Given the description of an element on the screen output the (x, y) to click on. 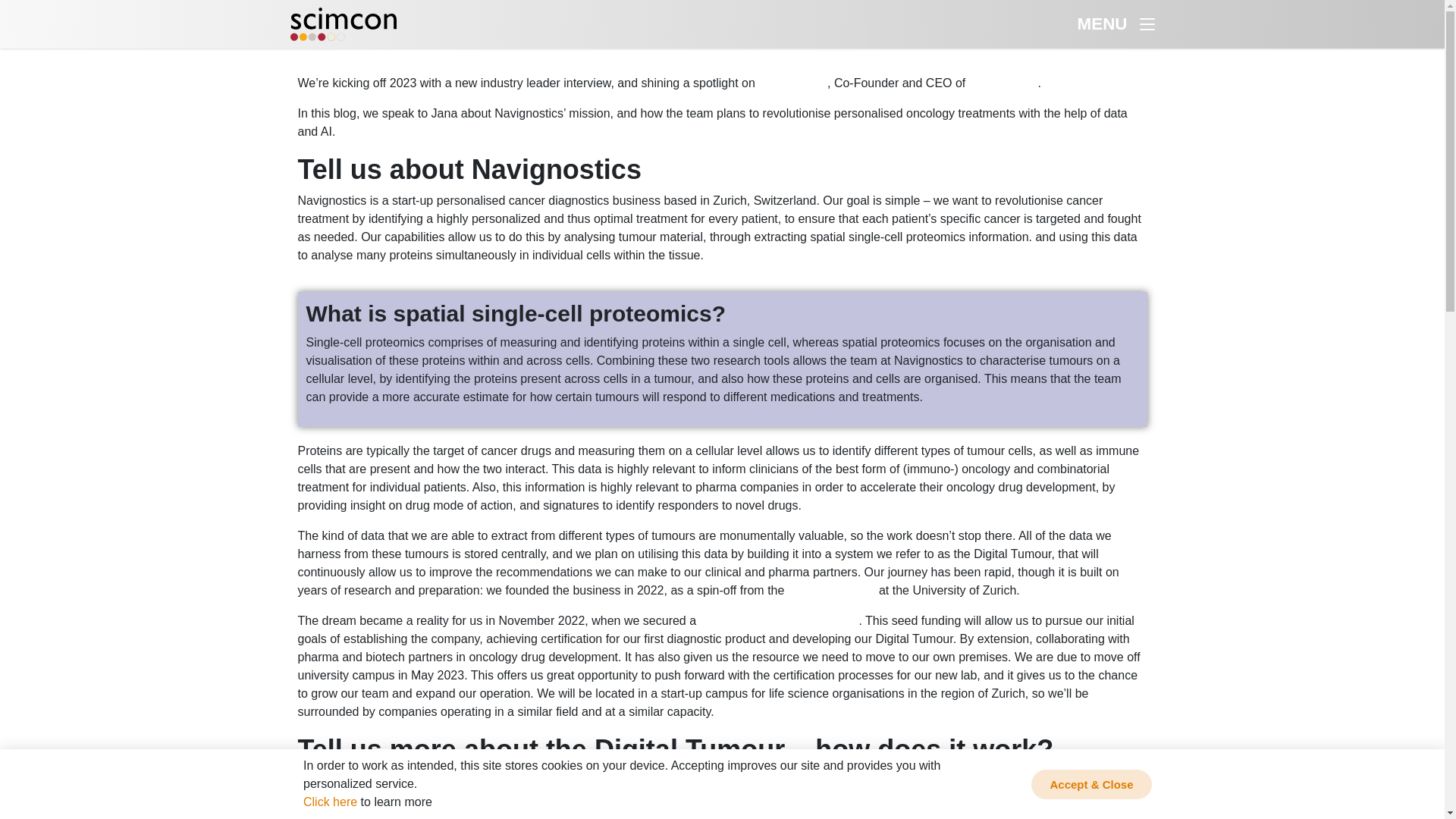
Navignostics (1003, 82)
Bodenmiller Lab (831, 590)
seed investment of 7.5m CHF (779, 620)
Jana Fischer (792, 82)
Industry leader interviews: Jana Fischer? (110, 56)
Click here (329, 801)
MENU (1115, 23)
